Given the description of an element on the screen output the (x, y) to click on. 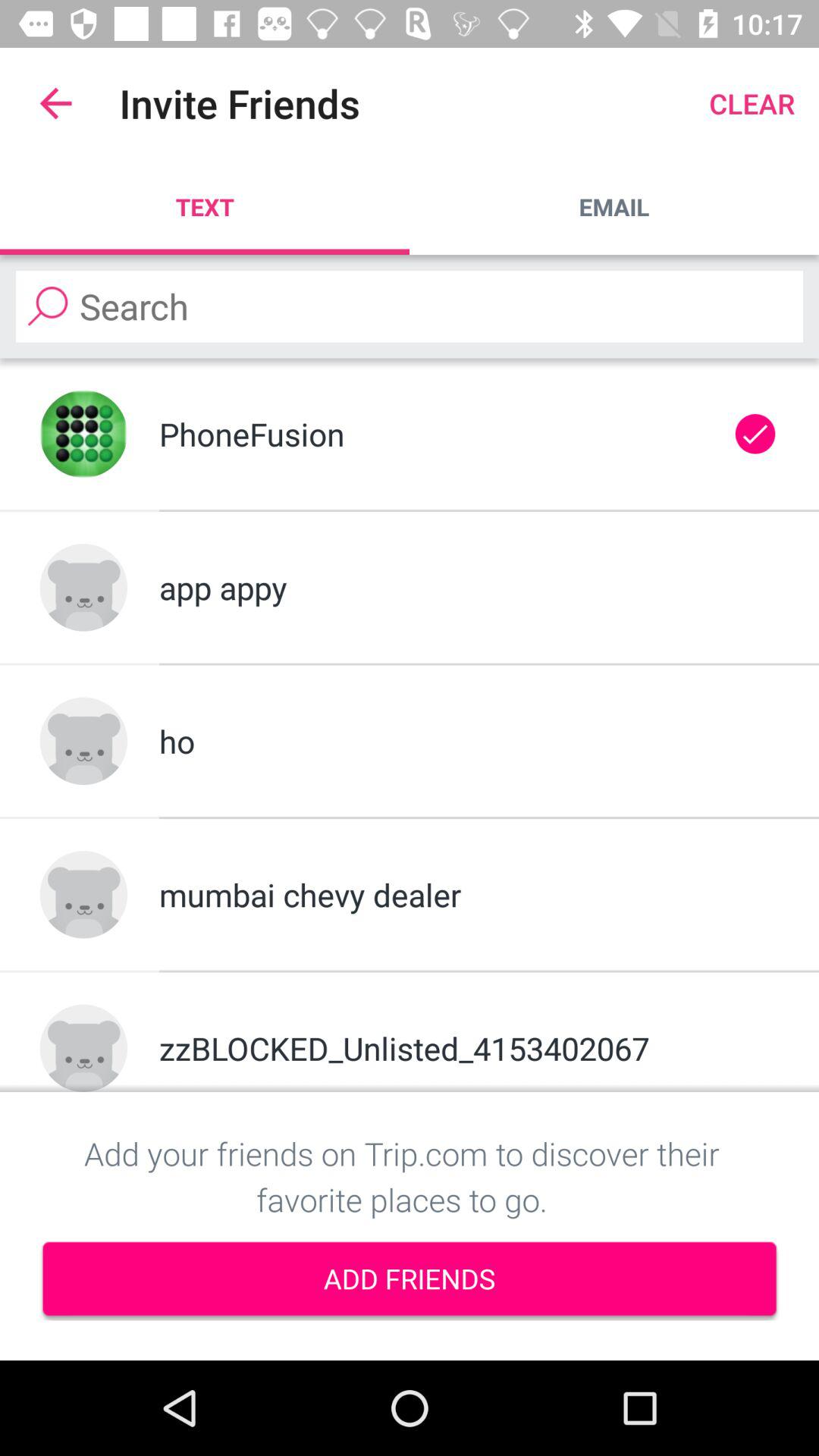
turn on the app to the left of the invite friends (55, 103)
